Given the description of an element on the screen output the (x, y) to click on. 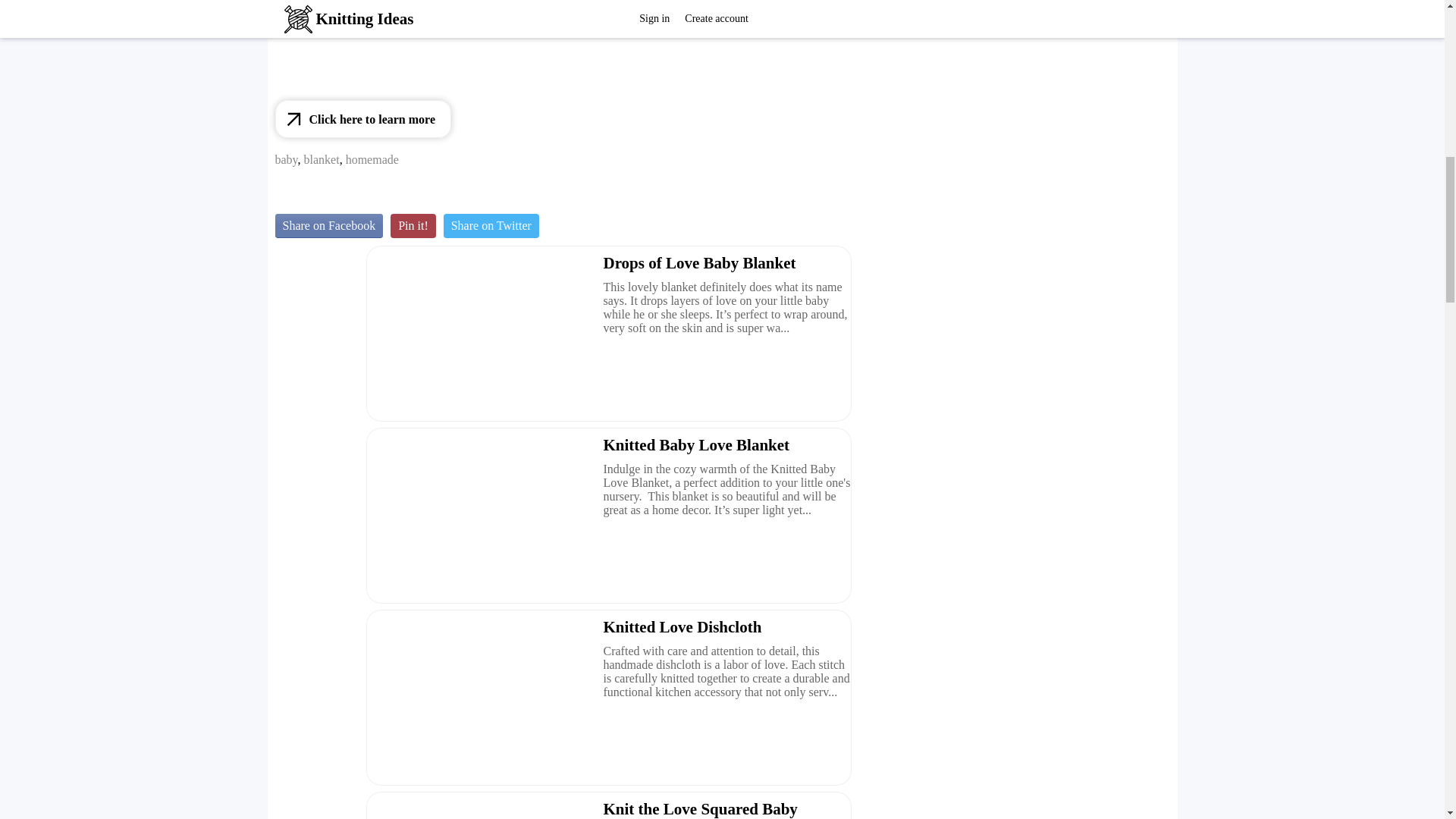
Share on Twitter (491, 225)
Pin it! (412, 225)
baby (286, 159)
Comments (325, 193)
homemade (372, 159)
blanket (321, 159)
Share on Facebook (328, 225)
Click here to learn more (362, 118)
